Given the description of an element on the screen output the (x, y) to click on. 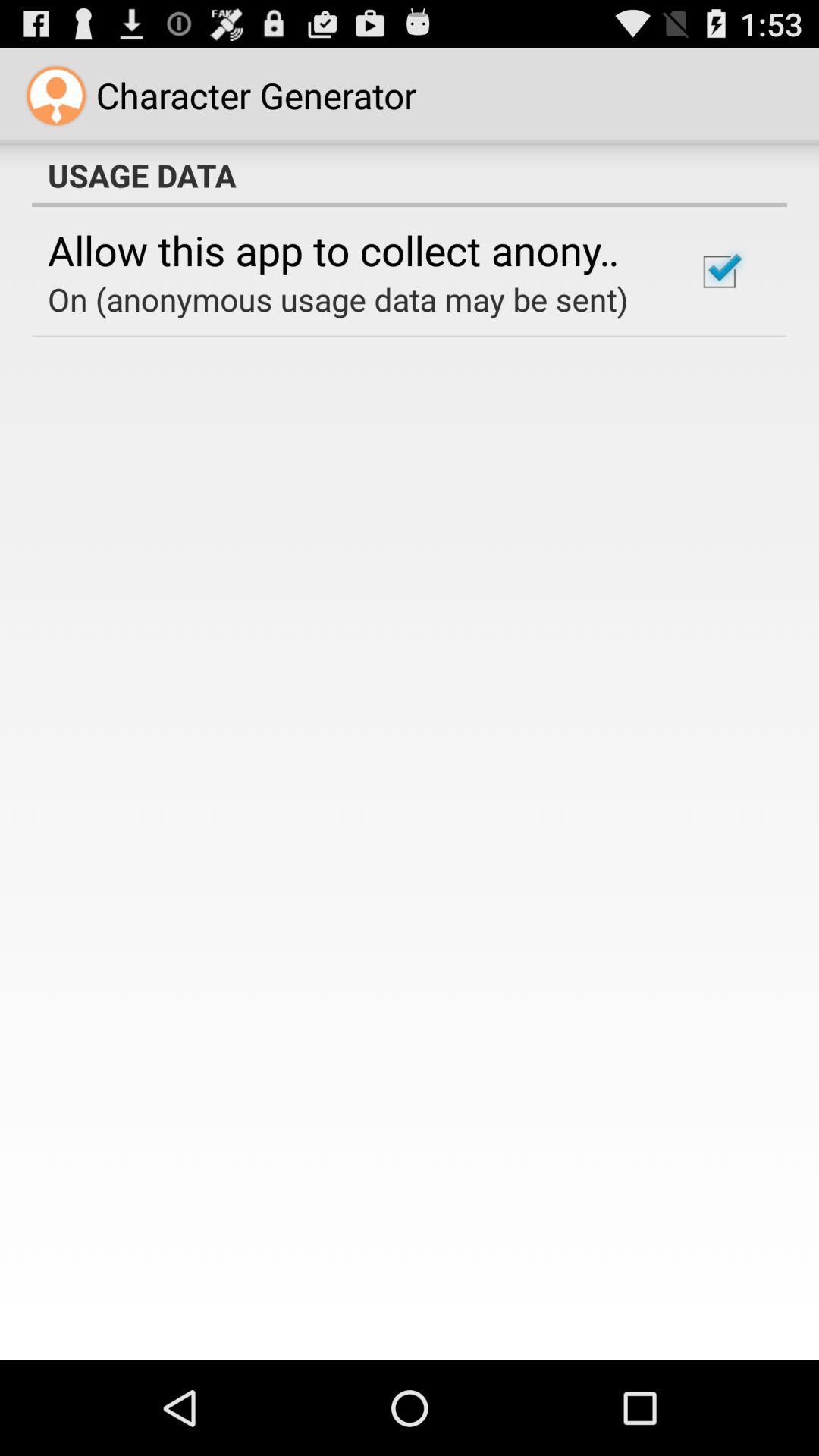
open checkbox at the top right corner (719, 271)
